Given the description of an element on the screen output the (x, y) to click on. 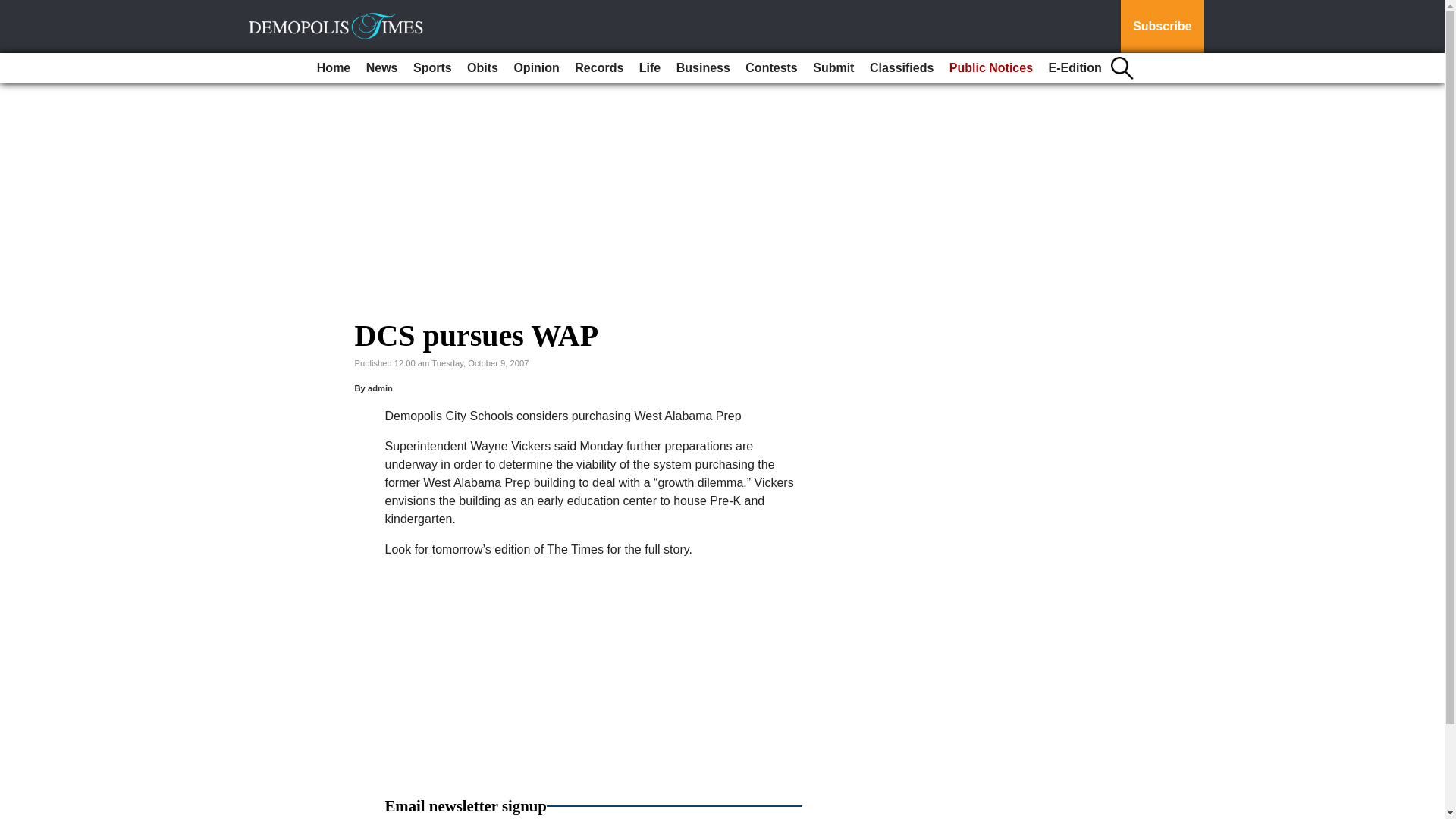
admin (380, 388)
Opinion (535, 68)
News (381, 68)
Business (702, 68)
Public Notices (991, 68)
Home (333, 68)
Sports (432, 68)
E-Edition (1075, 68)
Contests (771, 68)
Classifieds (901, 68)
Subscribe (1162, 26)
Records (598, 68)
Life (649, 68)
Submit (833, 68)
Obits (482, 68)
